Given the description of an element on the screen output the (x, y) to click on. 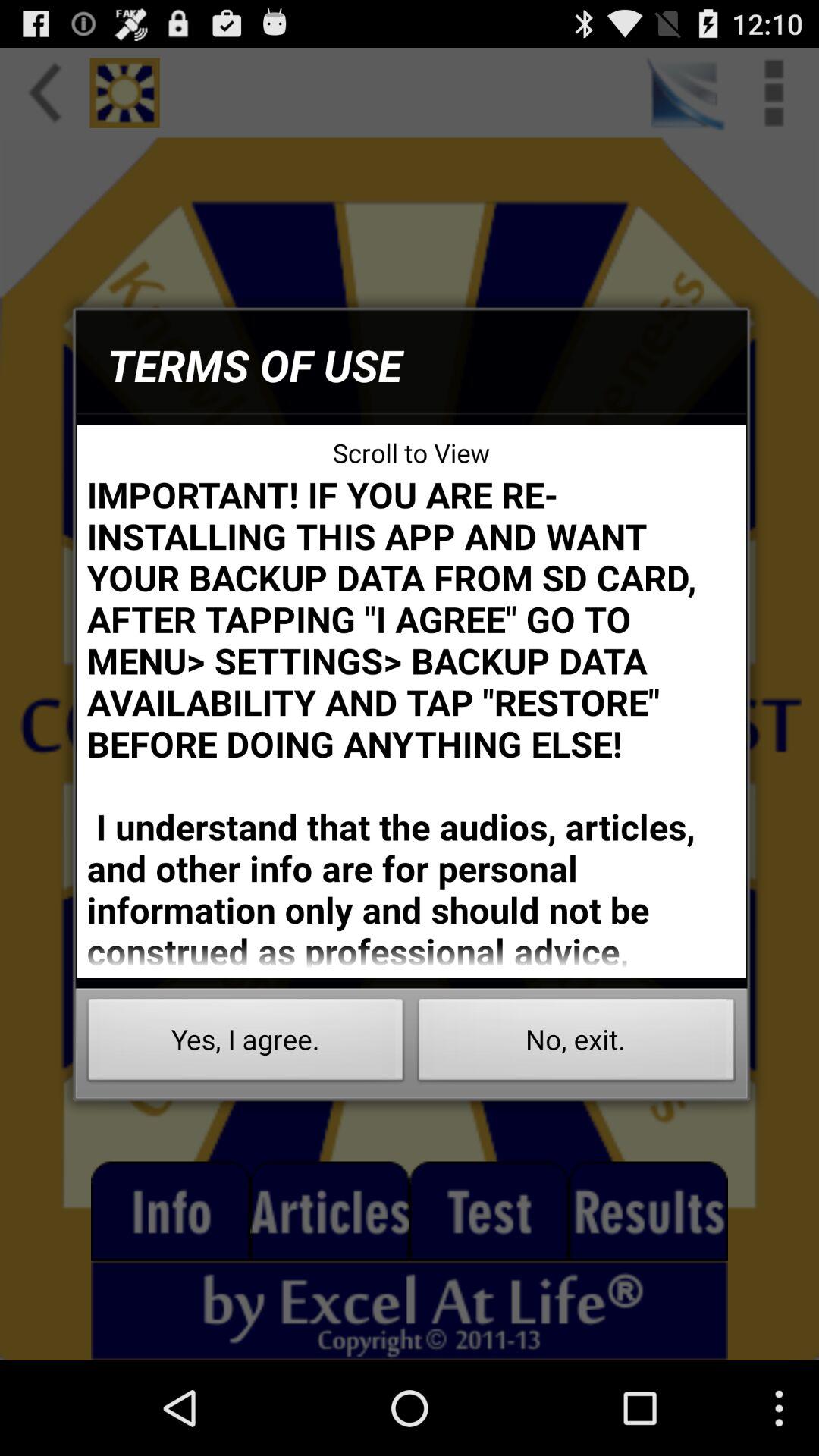
launch the icon next to the yes, i agree. (576, 1044)
